Given the description of an element on the screen output the (x, y) to click on. 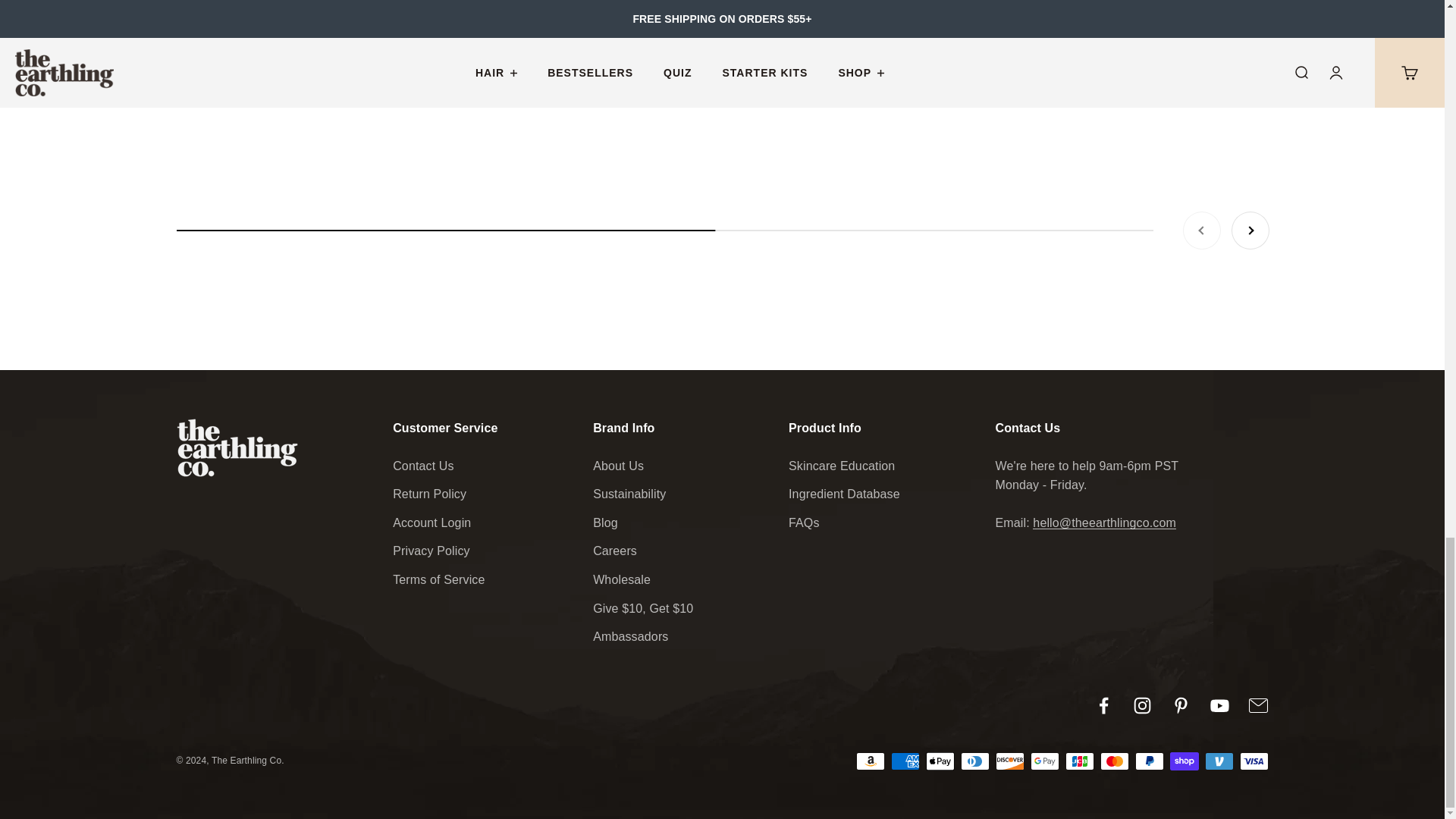
Email to TEC (722, 230)
